Given the description of an element on the screen output the (x, y) to click on. 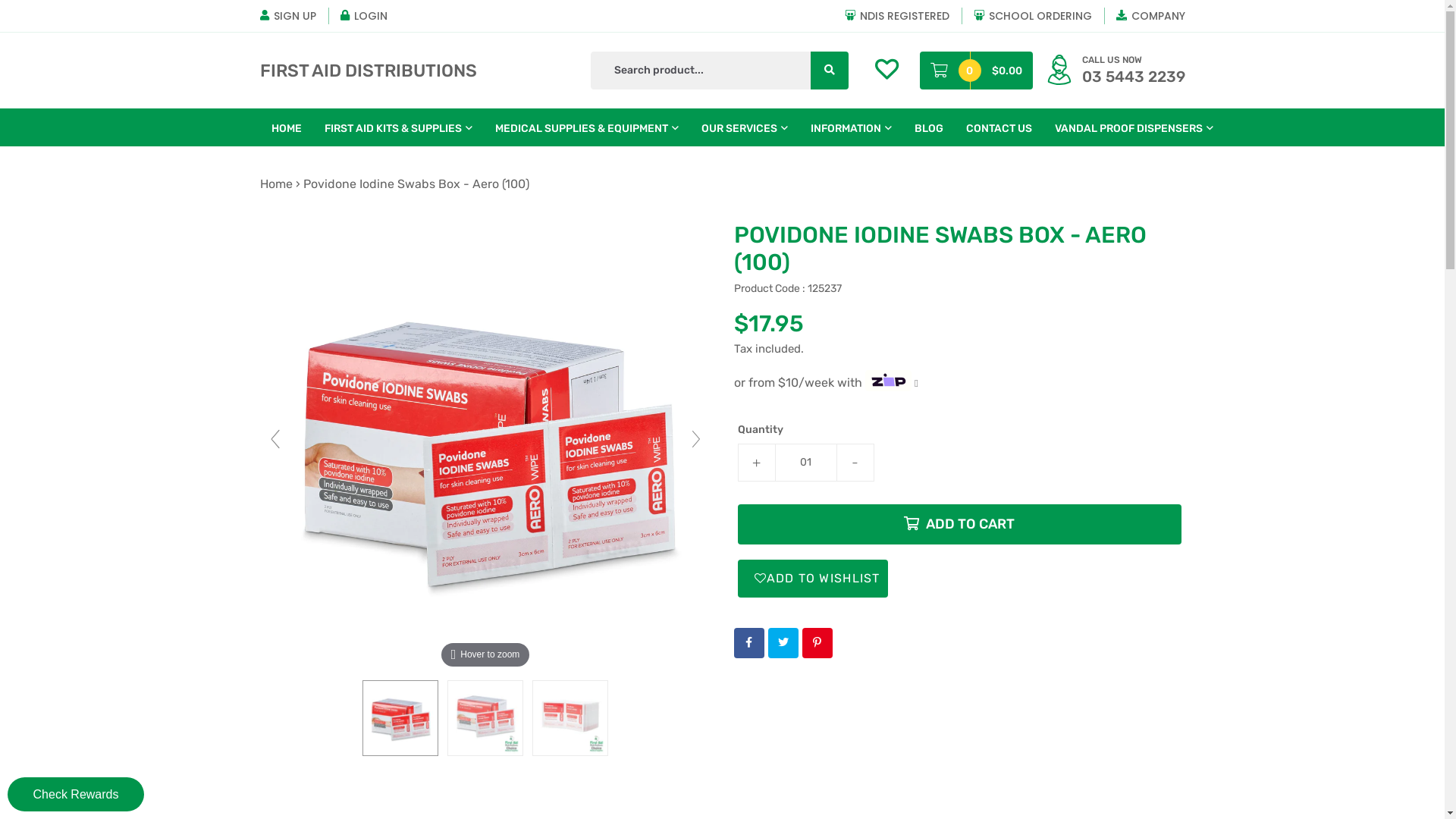
MEDICAL SUPPLIES & EQUIPMENT Element type: text (586, 127)
ADD TO WISHLIST Element type: text (812, 578)
LOGIN Element type: text (362, 14)
VANDAL PROOF DISPENSERS Element type: text (1133, 127)
Pin it
Pin on Pinterest Element type: text (817, 642)
NDIS REGISTERED Element type: text (896, 14)
FIRST AID KITS & SUPPLIES Element type: text (397, 127)
Povidone Iodine Swabs Box - Aero (100) Element type: hover (485, 718)
COMPANY Element type: text (1150, 14)
Hover to zoom Element type: text (484, 445)
Share
Share on Facebook Element type: text (749, 642)
SIGN UP Element type: text (287, 14)
Tweet
Tweet on Twitter Element type: text (782, 642)
Home Element type: text (275, 183)
Submit Element type: text (854, 70)
INFORMATION Element type: text (851, 127)
03 5443 2239 Element type: text (1132, 76)
OUR SERVICES Element type: text (744, 127)
FIRST AID DISTRIBUTIONS Element type: text (367, 70)
SCHOOL ORDERING Element type: text (1032, 14)
BLOG Element type: text (927, 127)
Povidone Iodine Swabs Box - Aero (100) Element type: hover (570, 718)
ADD TO CART Element type: text (958, 524)
Cart
0
$0.00 Element type: text (975, 70)
Povidone Iodine Swabs Box - Aero (100) Element type: hover (400, 718)
CONTACT US Element type: text (997, 127)
HOME Element type: text (285, 127)
